Given the description of an element on the screen output the (x, y) to click on. 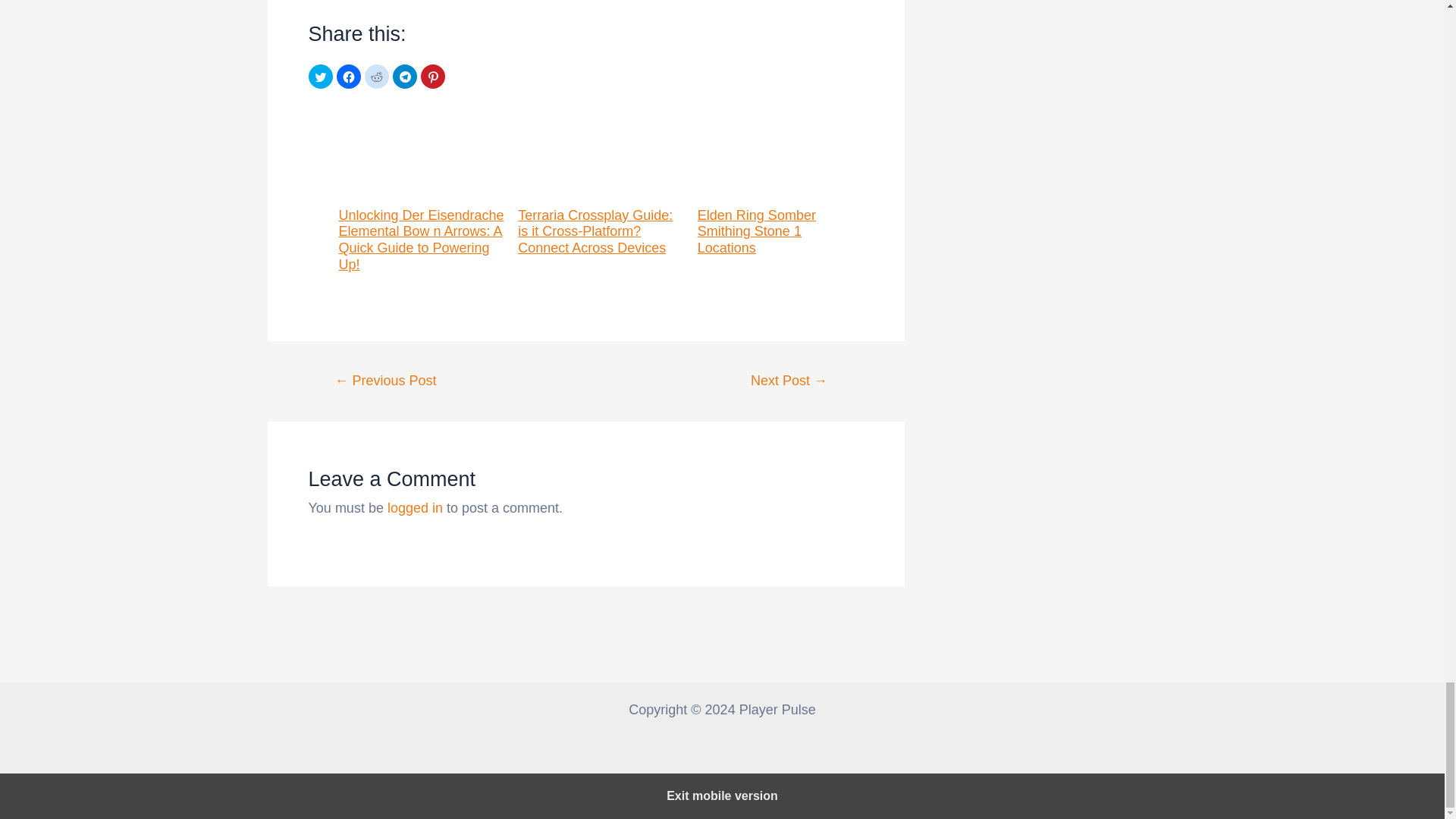
Click to share on Twitter (319, 76)
Click to share on Facebook (348, 76)
Elden Ring Somber Smithing Stone 4 Locations (788, 380)
Click to share on Reddit (376, 76)
logged in (414, 507)
Discovering Floral Treasures in Disney Dreamlight Valley (385, 380)
Click to share on Pinterest (432, 76)
Elden Ring Somber Smithing Stone 1 Locations (780, 181)
Click to share on Telegram (404, 76)
